Given the description of an element on the screen output the (x, y) to click on. 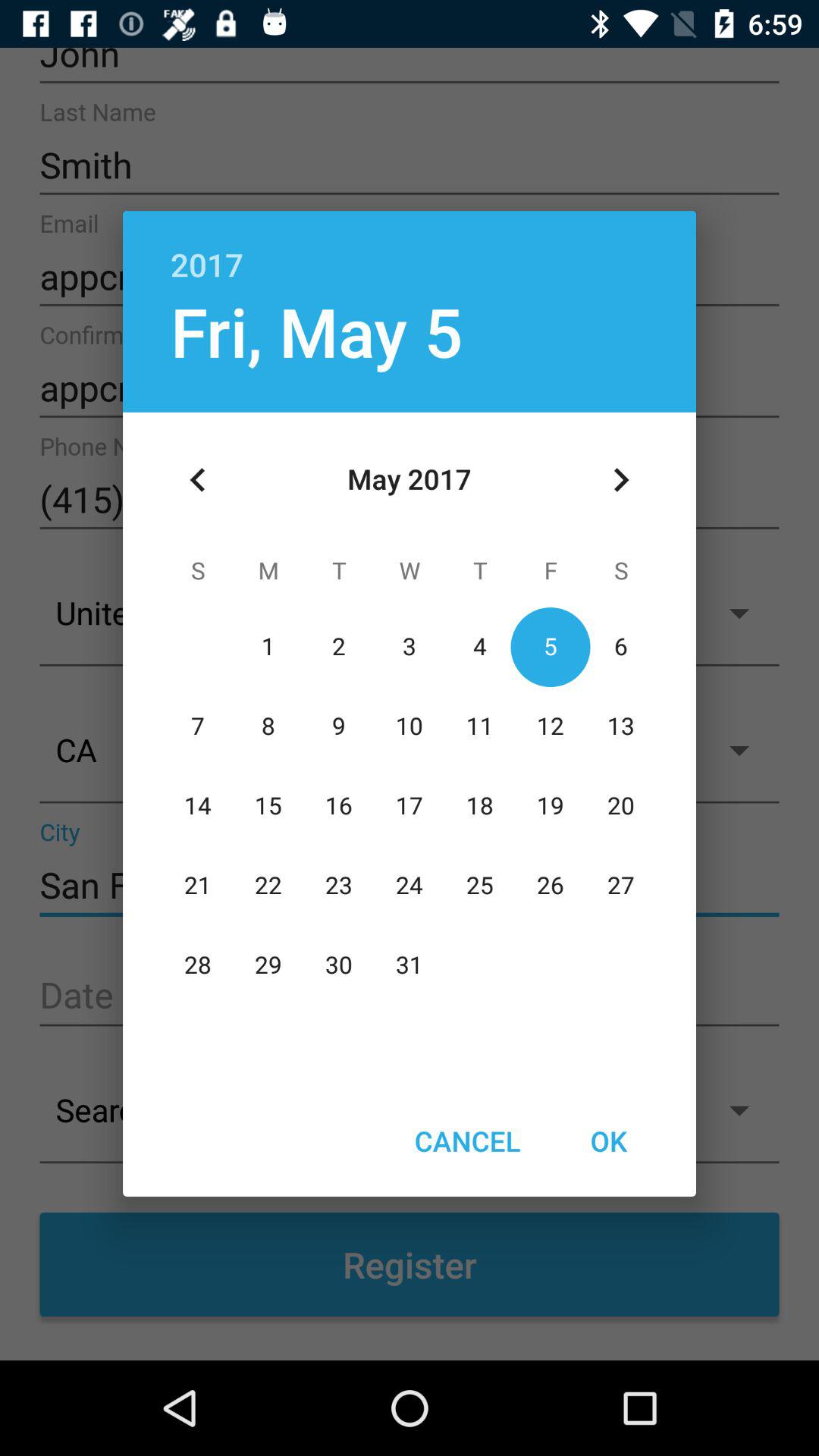
jump to fri, may 5 icon (316, 331)
